Given the description of an element on the screen output the (x, y) to click on. 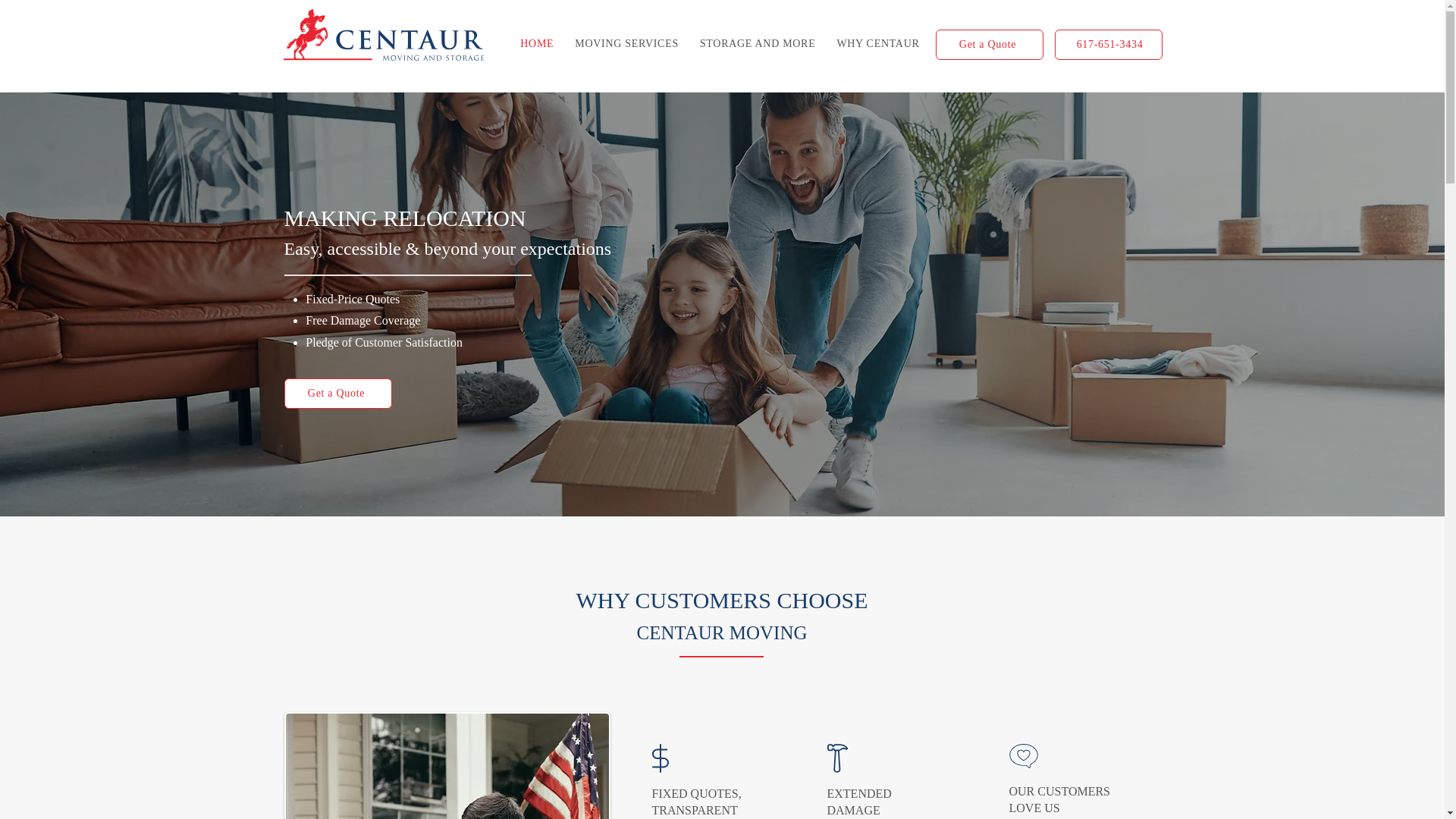
MOVING SERVICES (626, 43)
Get a Quote (989, 44)
617-651-3434 (1107, 44)
STORAGE AND MORE (758, 43)
HOME (536, 43)
Get a Quote (337, 393)
